Given the description of an element on the screen output the (x, y) to click on. 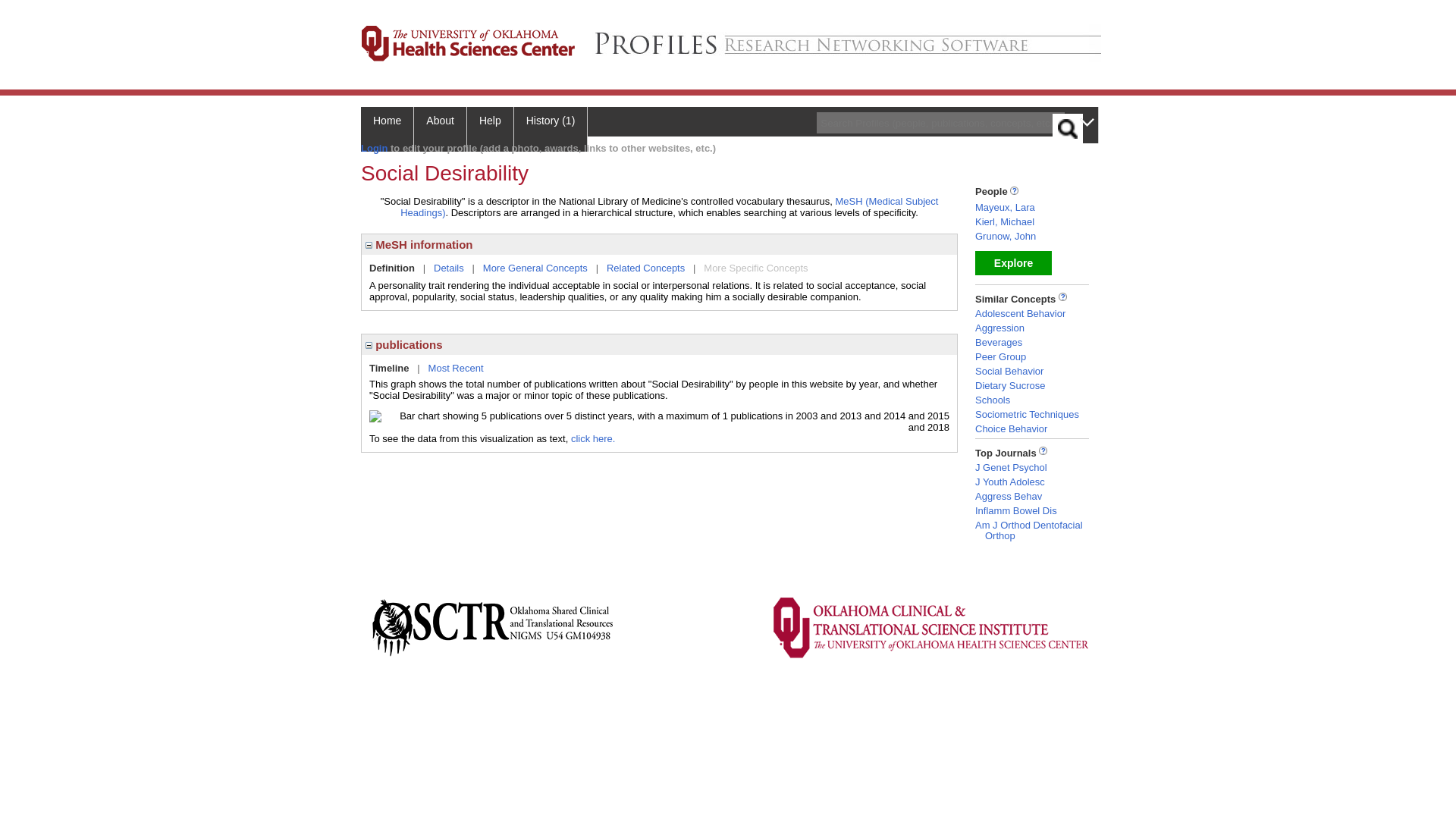
More Specific Concepts (755, 267)
About (440, 129)
Definition (391, 267)
Related Concepts (645, 267)
Login (374, 147)
Home (387, 129)
Help (490, 129)
More General Concepts (535, 267)
Details (448, 267)
